Given the description of an element on the screen output the (x, y) to click on. 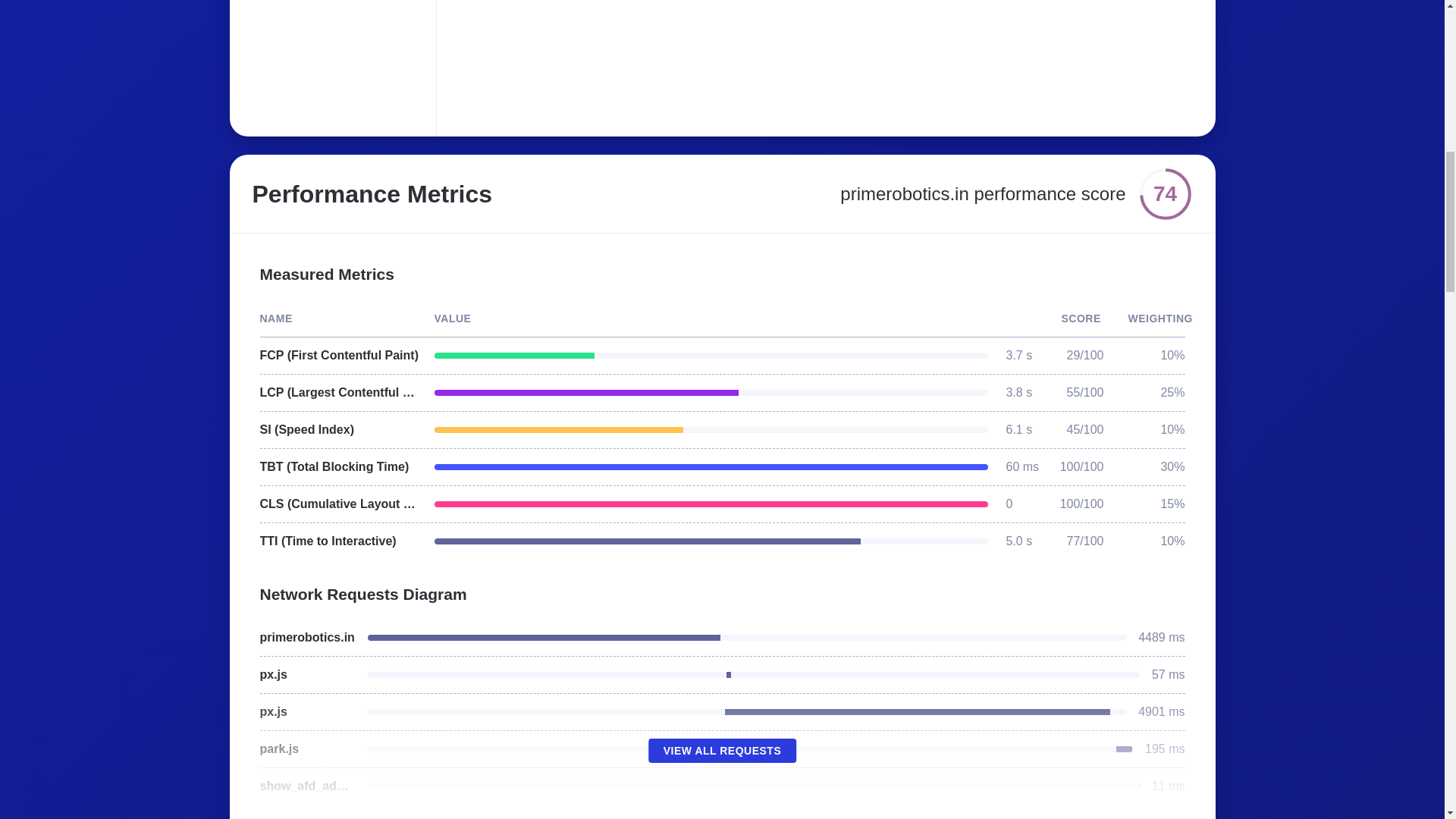
VIEW ALL REQUESTS (721, 750)
Advertisement (686, 58)
